Given the description of an element on the screen output the (x, y) to click on. 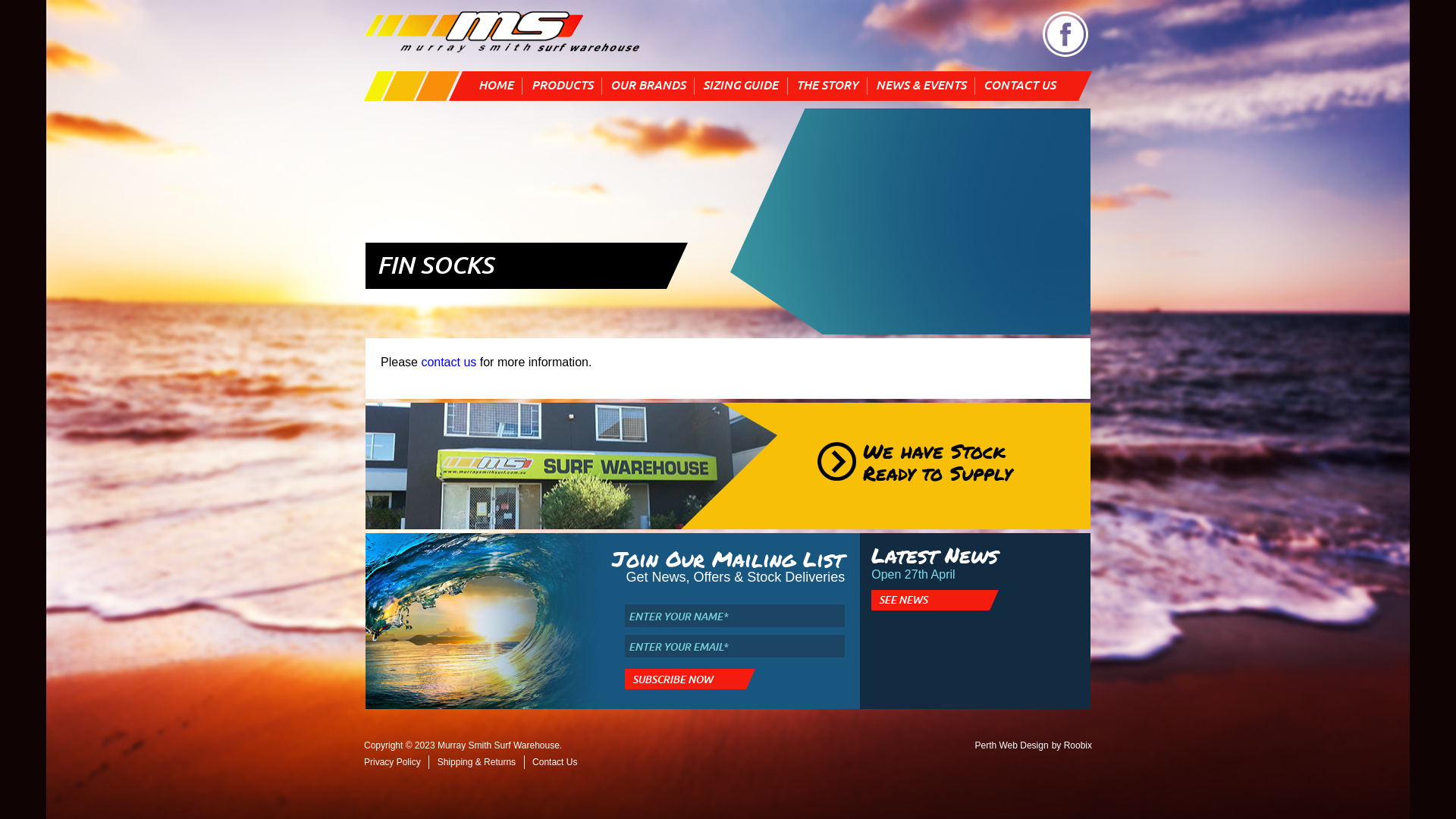
NEWS & EVENTS Element type: text (920, 85)
CONTACT US Element type: text (1018, 85)
Privacy Policy Element type: text (392, 761)
SEE NEWS Element type: text (934, 599)
contact us Element type: text (448, 361)
Subscribe Now Element type: text (689, 678)
Shipping & Returns Element type: text (476, 761)
HOME Element type: text (495, 85)
Murray Smith Surf Warehouse Element type: hover (501, 31)
We have Stock Ready to Supply Element type: text (927, 461)
PRODUCTS Element type: text (560, 85)
Contact Us Element type: text (554, 761)
THE STORY Element type: text (826, 85)
OUR BRANDS Element type: text (647, 85)
SIZING GUIDE Element type: text (739, 85)
Perth Web Design Element type: text (1011, 745)
